Given the description of an element on the screen output the (x, y) to click on. 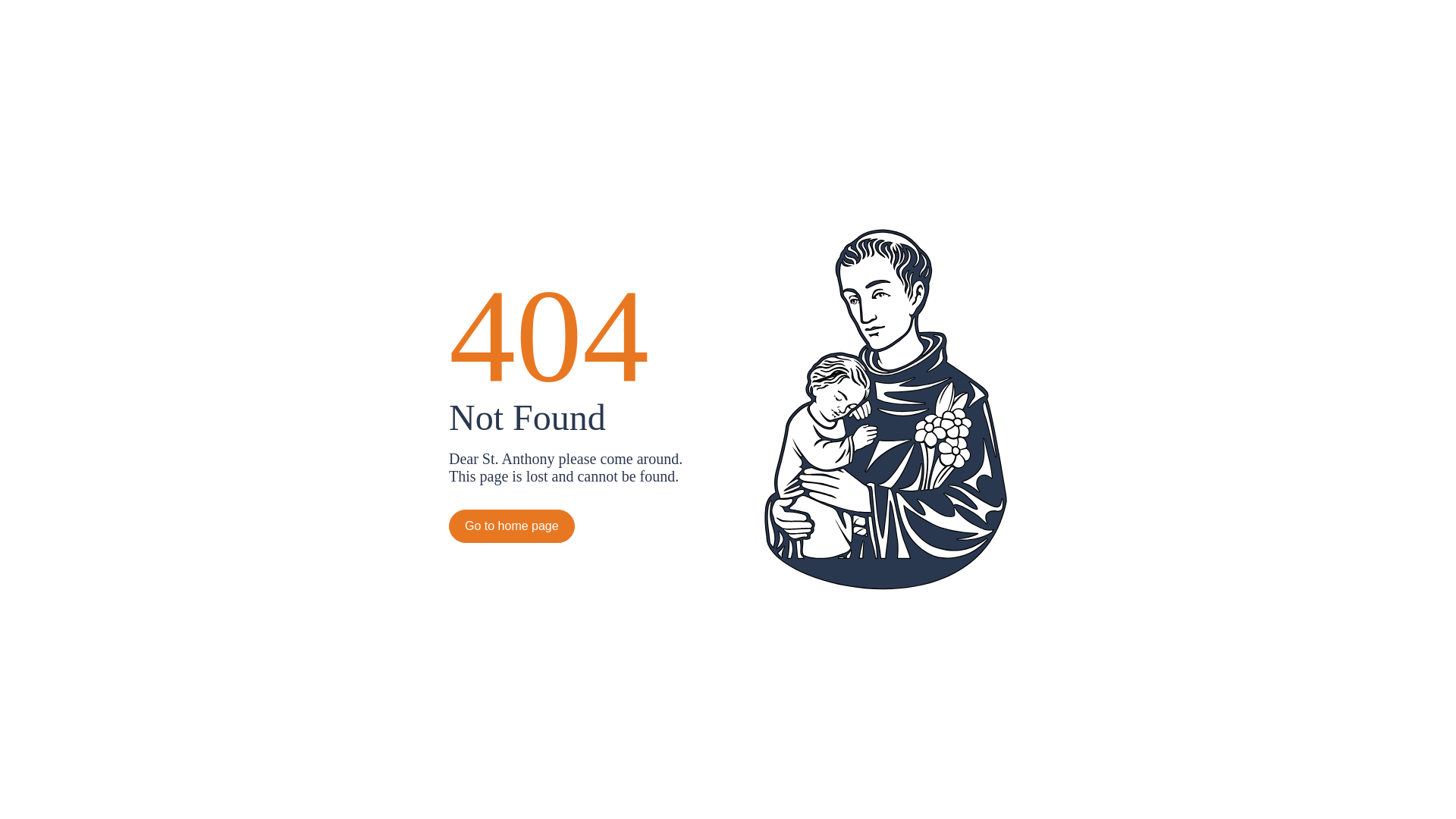
Go to home page Element type: text (511, 525)
